Given the description of an element on the screen output the (x, y) to click on. 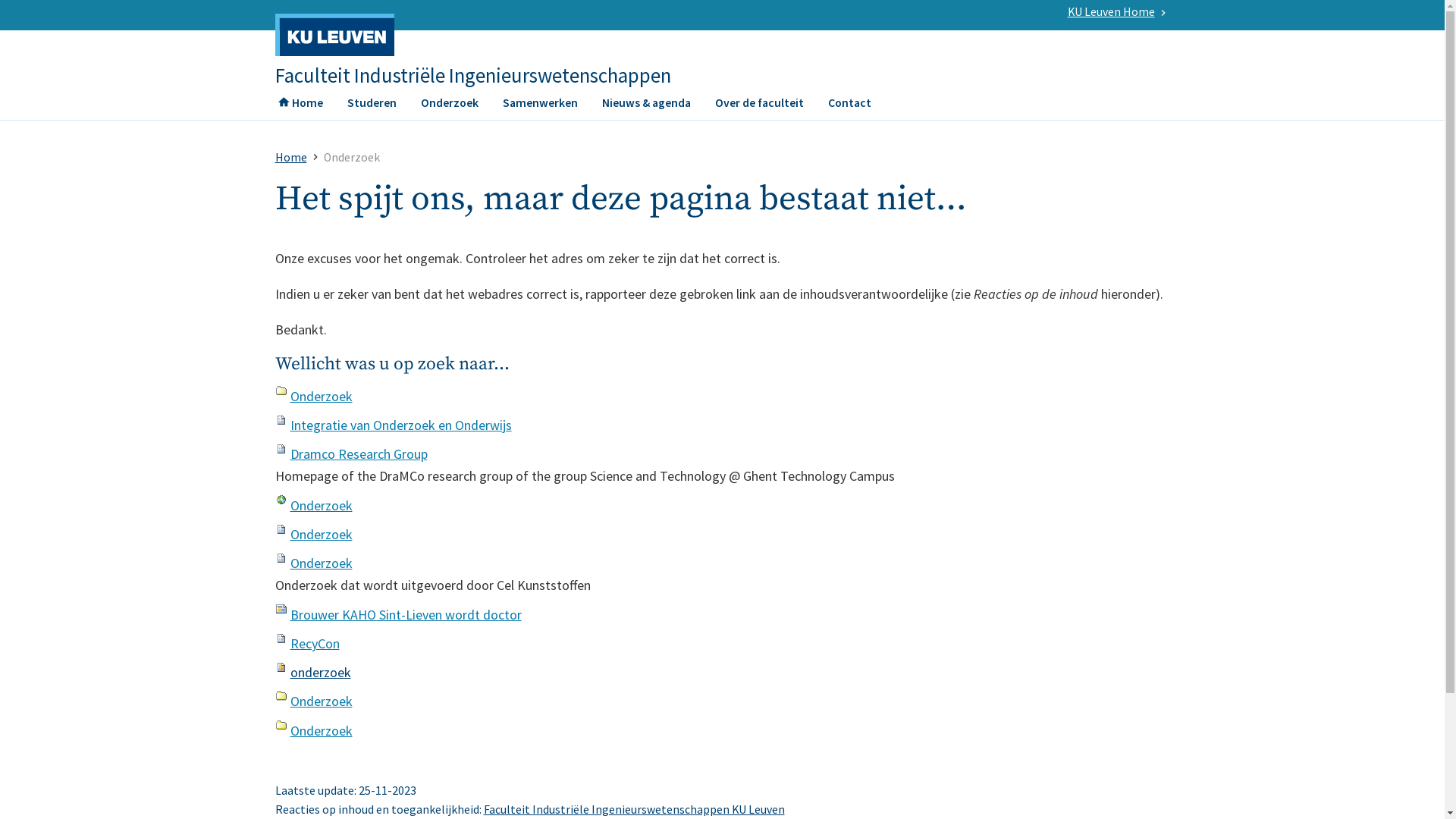
Over de faculteit Element type: text (758, 106)
Contact Element type: text (849, 106)
Samenwerken Element type: text (539, 106)
Home Element type: text (300, 106)
Brouwer KAHO Sint-Lieven wordt doctor Element type: text (404, 614)
Integratie van Onderzoek en Onderwijs Element type: text (400, 424)
Onderzoek Element type: text (320, 562)
Onderzoek Element type: text (320, 730)
Nieuws & agenda Element type: text (646, 106)
Home Element type: text (290, 157)
RecyCon Element type: text (313, 643)
Onderzoek Element type: text (320, 395)
onderzoek Element type: text (319, 671)
Onderzoek Element type: text (320, 700)
Onderzoek Element type: text (320, 505)
Onderzoek Element type: text (320, 533)
Dramco Research Group Element type: text (357, 453)
KU Leuven Home Element type: text (1112, 11)
Onderzoek Element type: text (448, 106)
Studeren Element type: text (371, 106)
